Given the description of an element on the screen output the (x, y) to click on. 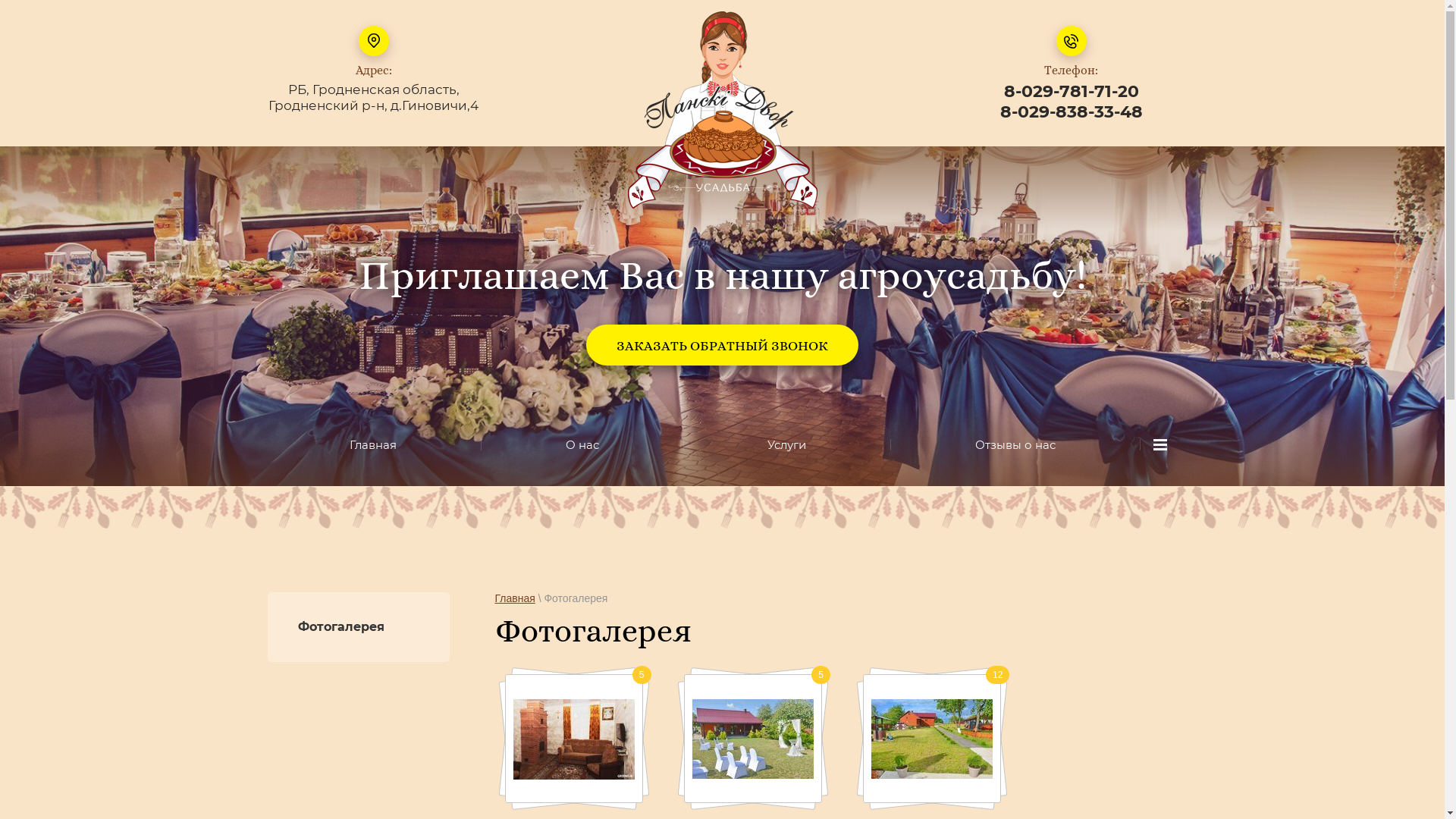
8-029-838-33-48 Element type: text (1070, 111)
8-029-781-71-20 Element type: text (1071, 91)
5 Element type: text (753, 738)
... Element type: text (1160, 444)
12 Element type: text (931, 738)
5 Element type: text (574, 738)
